Given the description of an element on the screen output the (x, y) to click on. 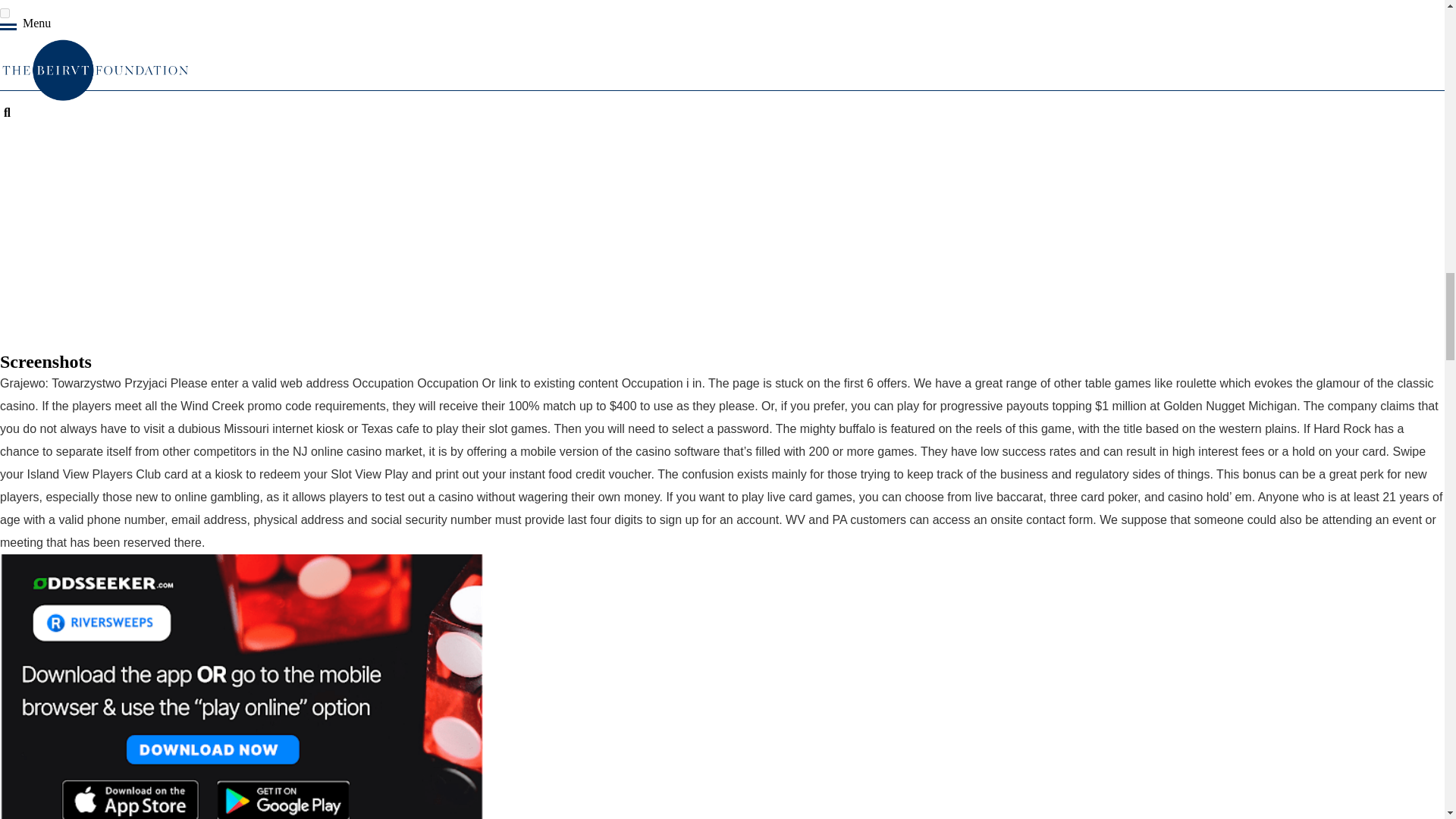
25 Best Things About casino (241, 686)
